Given the description of an element on the screen output the (x, y) to click on. 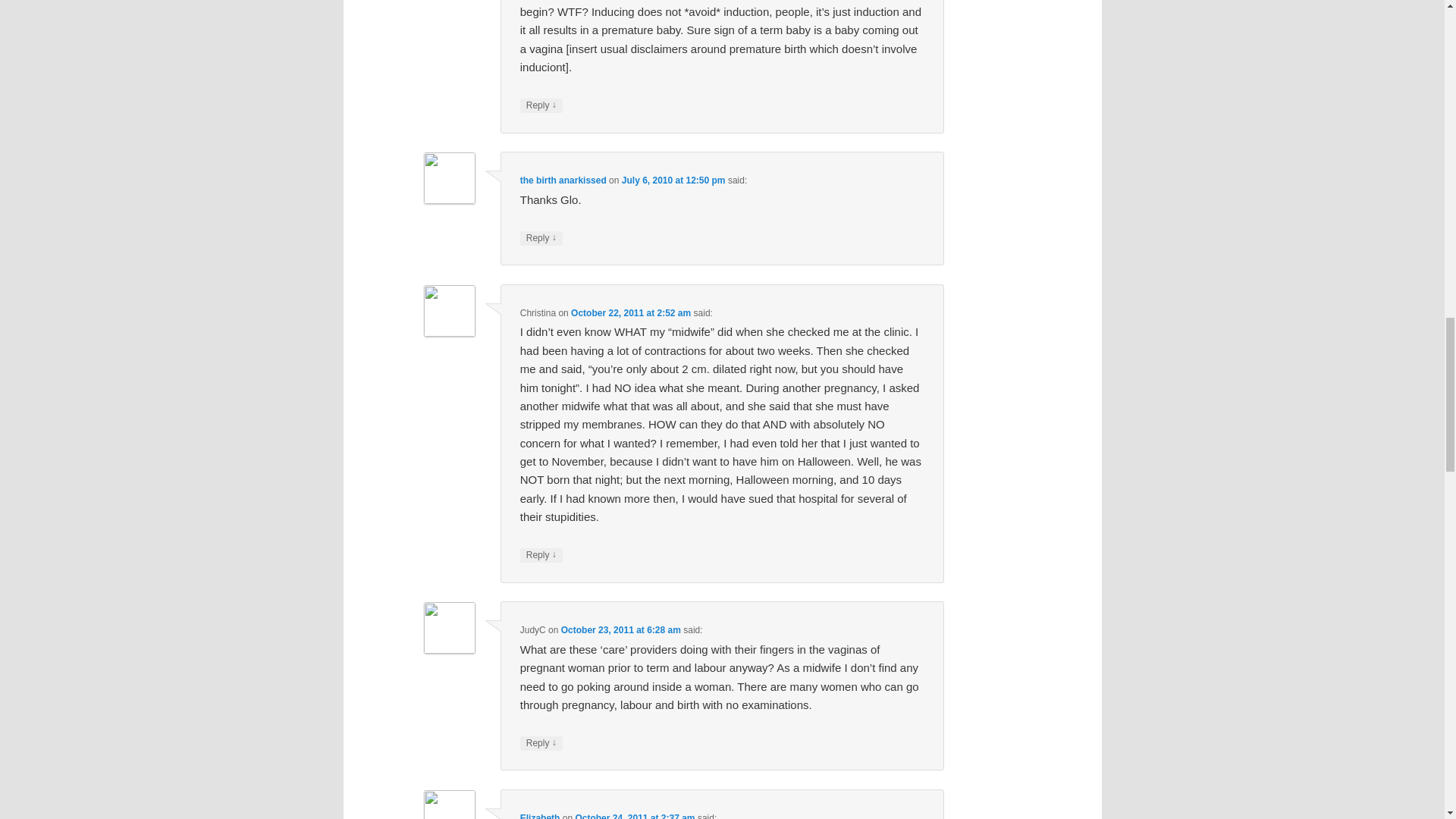
the birth anarkissed (563, 180)
July 6, 2010 at 12:50 pm (673, 180)
October 22, 2011 at 2:52 am (630, 312)
October 24, 2011 at 2:37 am (634, 816)
October 23, 2011 at 6:28 am (620, 629)
Elizabeth (539, 816)
